Given the description of an element on the screen output the (x, y) to click on. 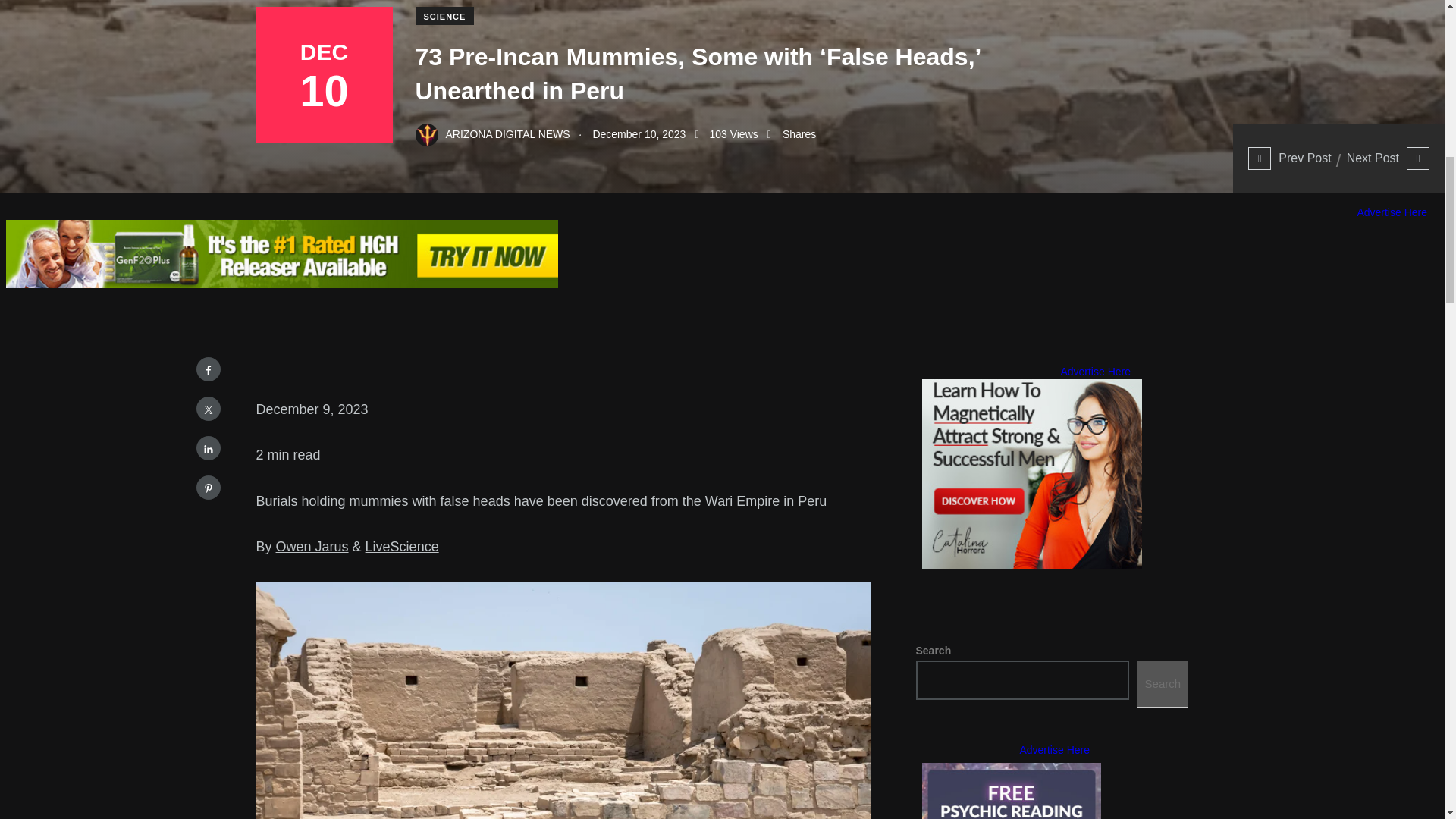
Share on Twitter (207, 408)
Share on LinkedIn (207, 447)
Share on Facebook (207, 369)
Share on Pinterest (207, 487)
